Given the description of an element on the screen output the (x, y) to click on. 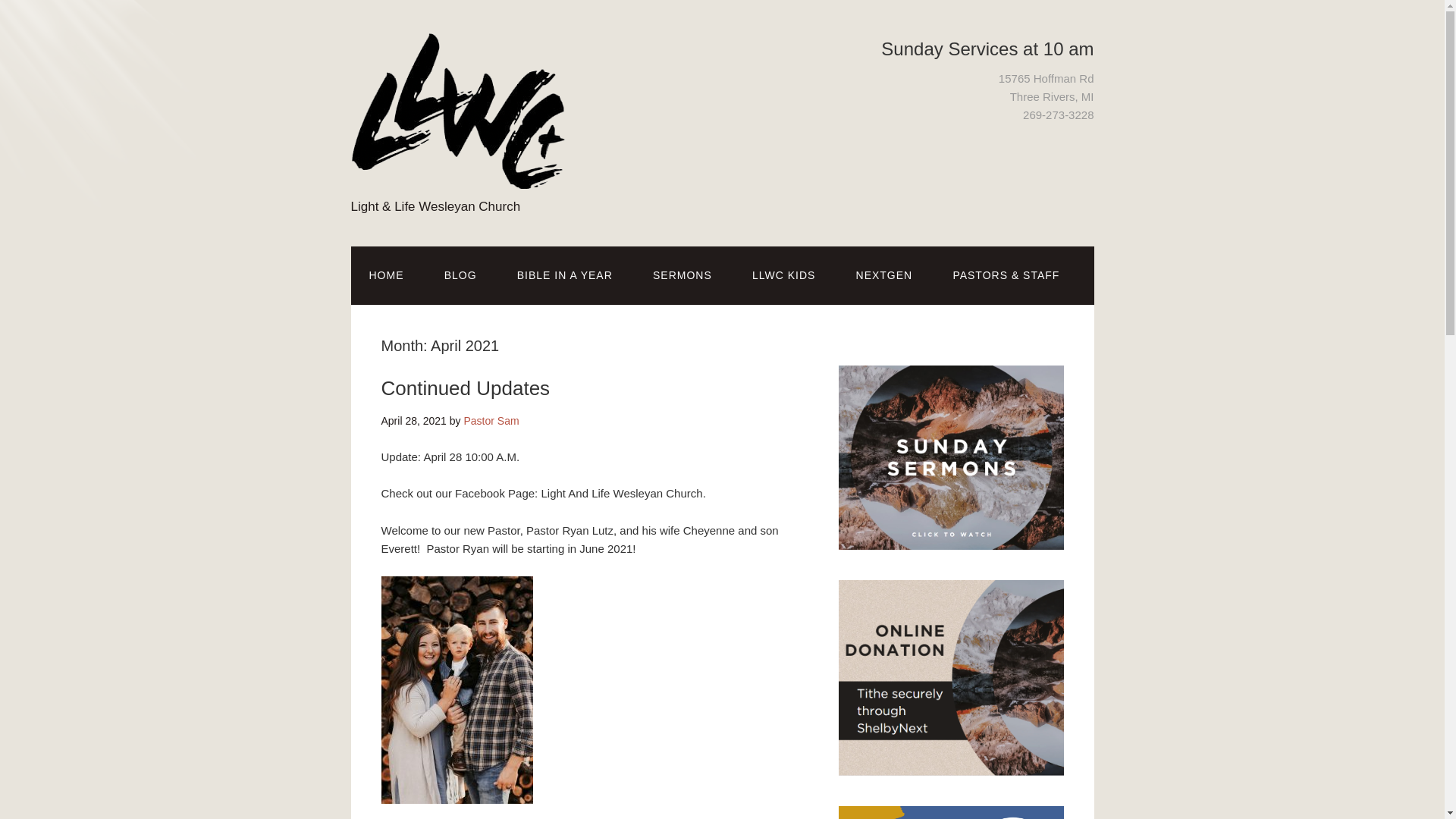
HOME (386, 275)
SERMONS (682, 275)
NEXTGEN (884, 275)
LLWC KIDS (782, 275)
Wednesday, April 28, 2021, 6:05 am (412, 420)
Continued Updates (465, 387)
BIBLE IN A YEAR (564, 275)
Pastor Sam (490, 420)
Posts by Pastor Sam (490, 420)
BLOG (460, 275)
